Given the description of an element on the screen output the (x, y) to click on. 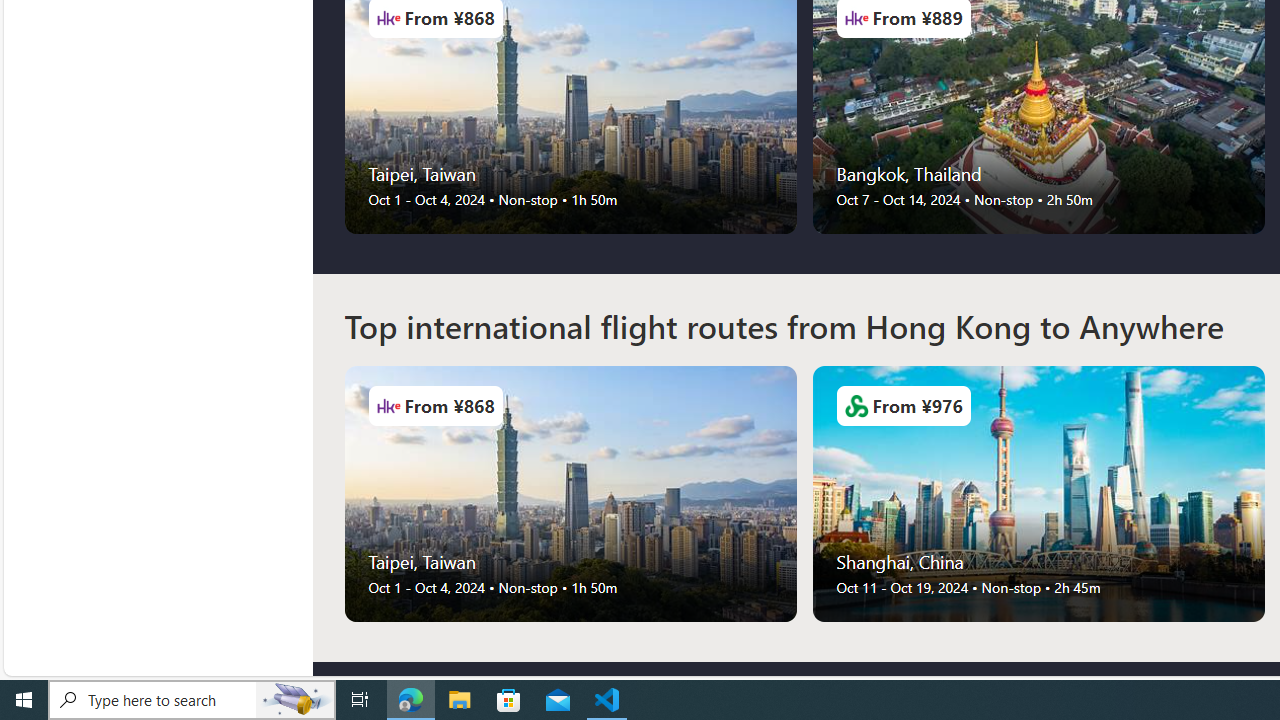
Airlines Logo (856, 405)
